Given the description of an element on the screen output the (x, y) to click on. 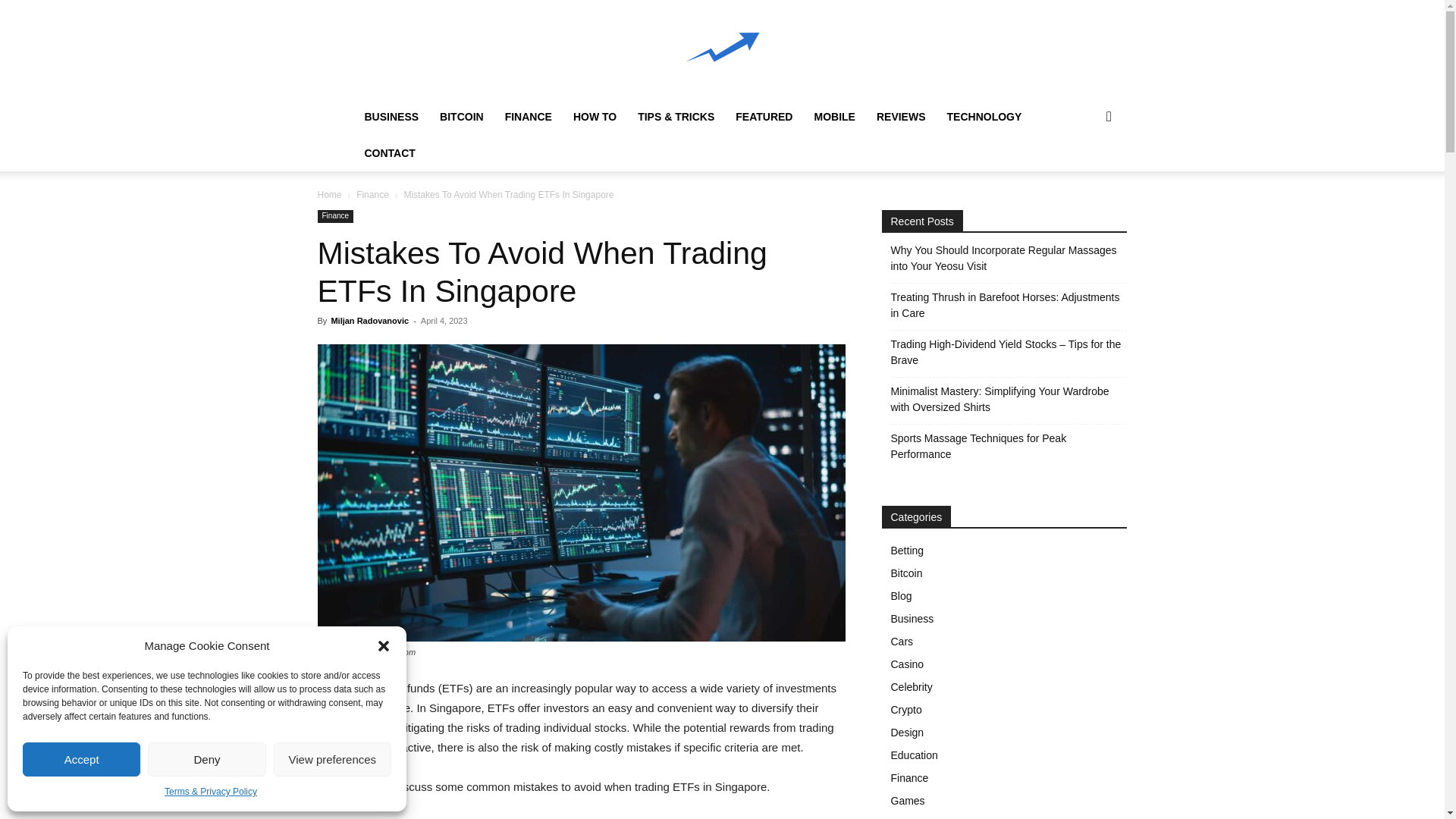
View preferences (332, 759)
HOW TO (594, 116)
View all posts in Finance (372, 194)
Accept (81, 759)
FEATURED (764, 116)
FINANCE (528, 116)
tipper-coin (721, 49)
BUSINESS (391, 116)
Deny (206, 759)
BITCOIN (462, 116)
